Given the description of an element on the screen output the (x, y) to click on. 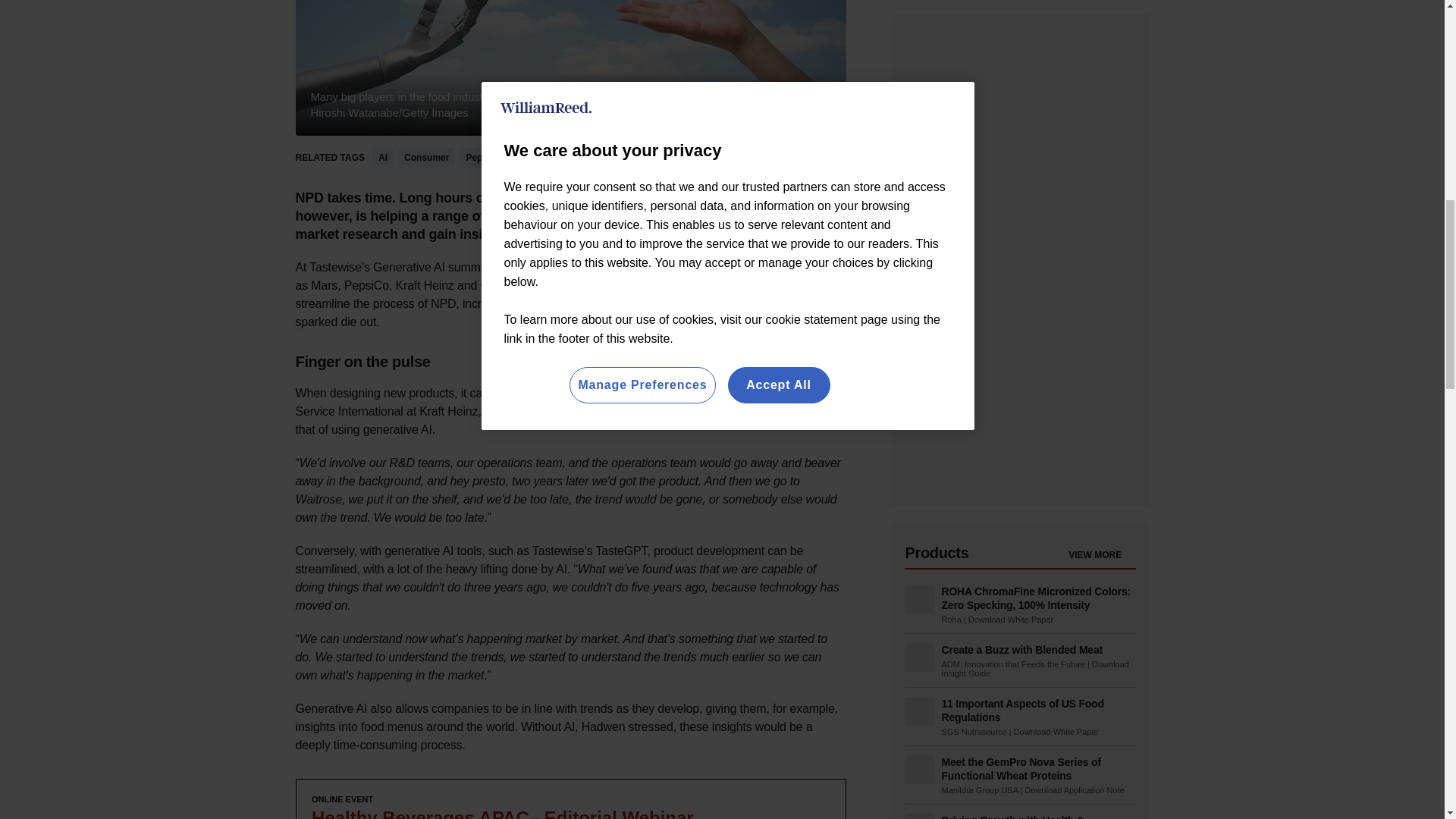
3rd party ad content (570, 798)
